Given the description of an element on the screen output the (x, y) to click on. 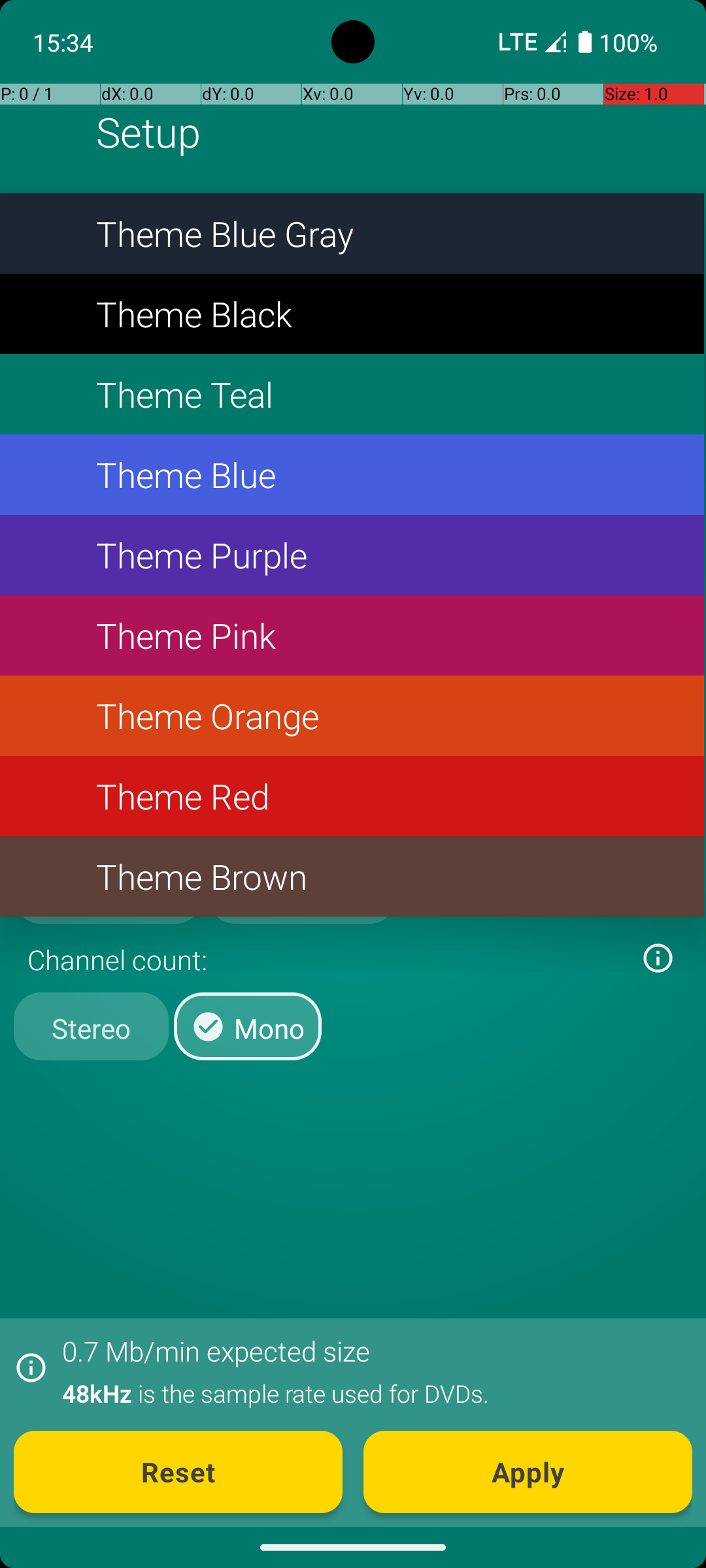
Theme Black Element type: android.widget.TextView (352, 313)
Theme Teal Element type: android.widget.TextView (352, 394)
Theme Blue Element type: android.widget.TextView (352, 474)
Theme Purple Element type: android.widget.TextView (352, 554)
Theme Pink Element type: android.widget.TextView (352, 635)
Theme Orange Element type: android.widget.TextView (352, 715)
Theme Red Element type: android.widget.TextView (352, 795)
Theme Brown Element type: android.widget.TextView (352, 876)
